Given the description of an element on the screen output the (x, y) to click on. 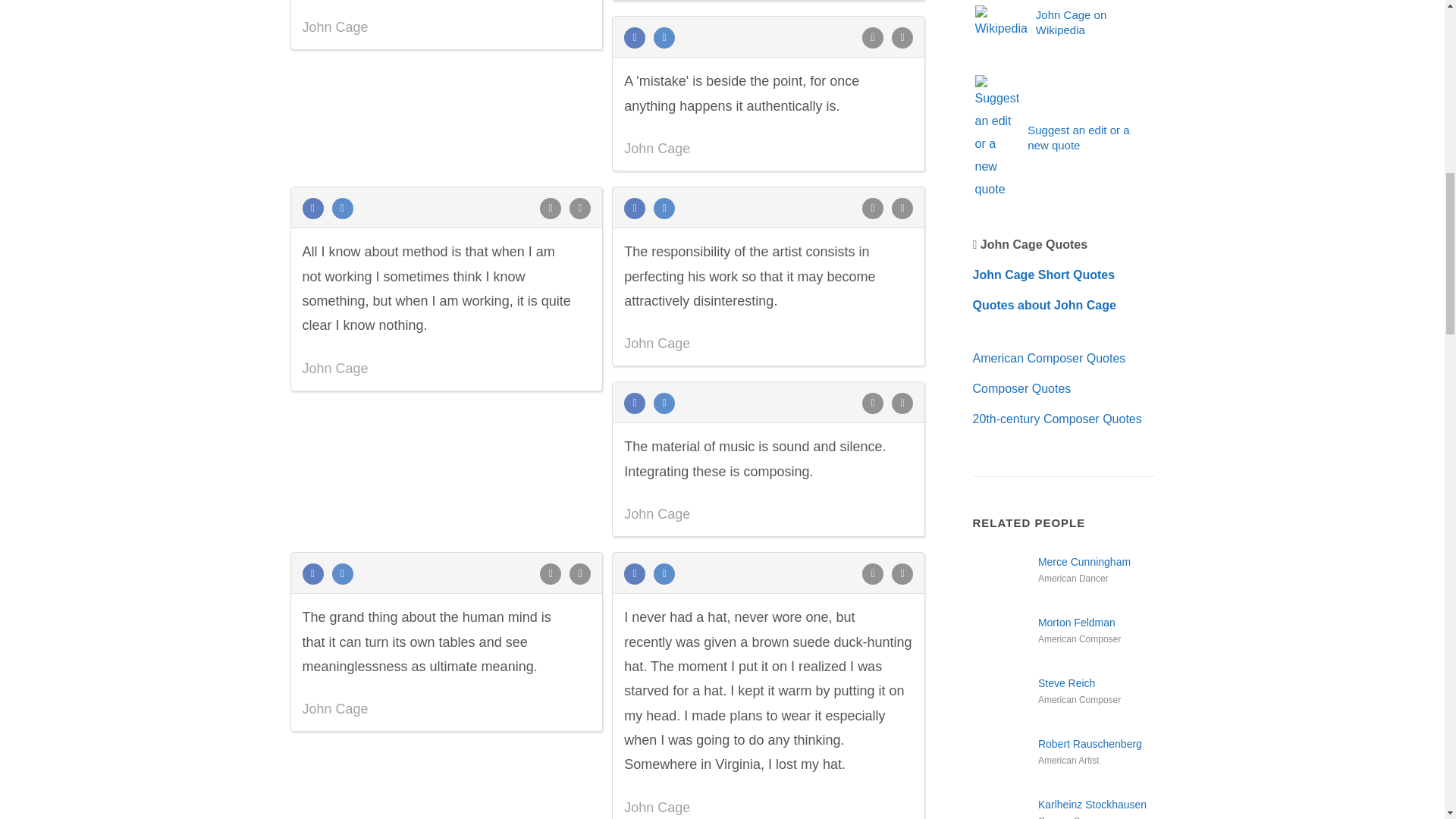
Steve Reich (1002, 702)
Morton Feldman (1002, 642)
Merce Cunningham (1002, 581)
Robert Rauschenberg (1002, 763)
Karlheinz Stockhausen (1002, 808)
